Given the description of an element on the screen output the (x, y) to click on. 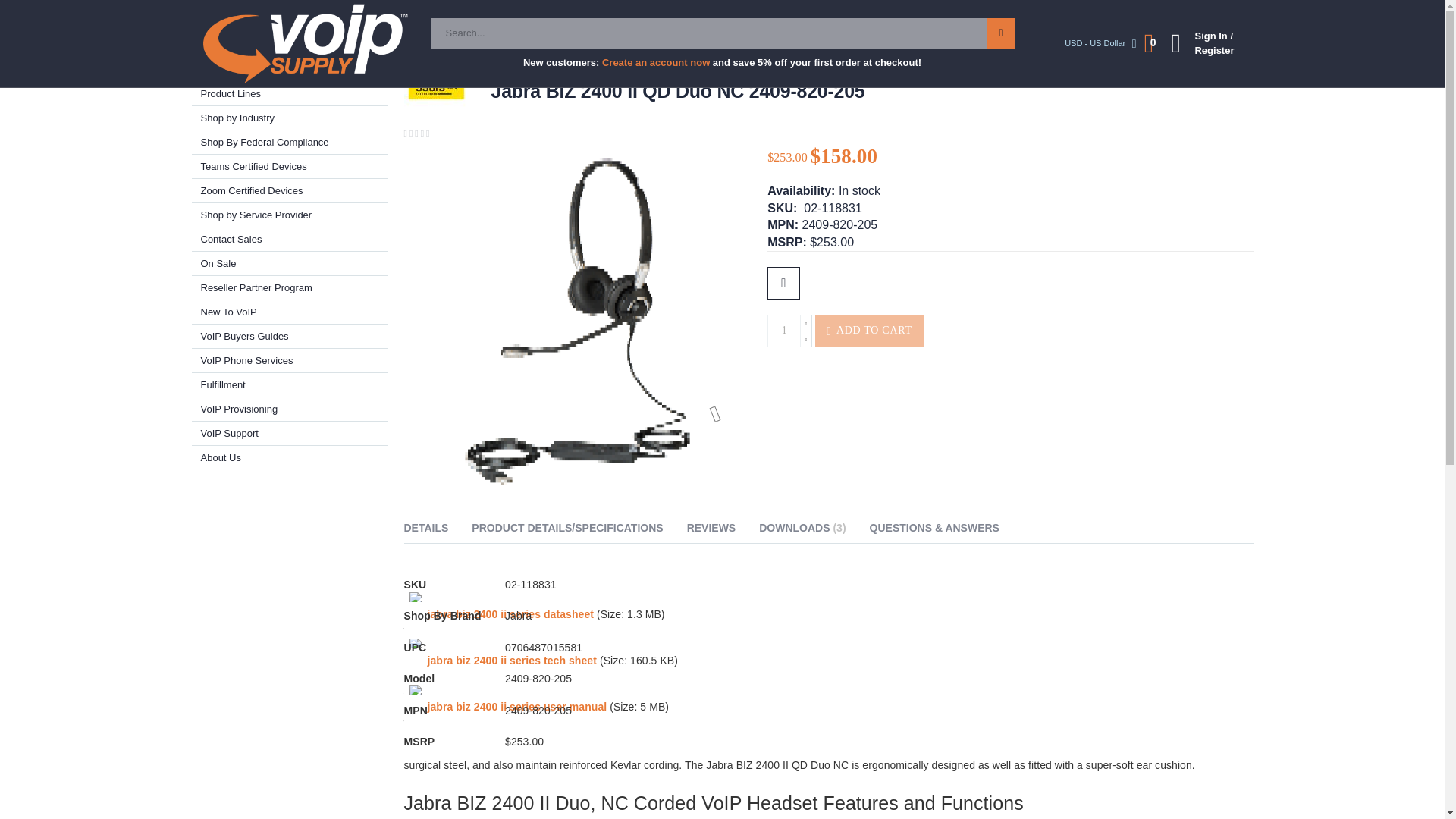
VoipSupply.com - Everything you need for VoIP! (305, 43)
Jabra (334, 42)
two-ear, noise canceling headset (851, 724)
Jabra Biz Corded Headsets (643, 42)
DETAILS (425, 529)
jabra biz 2400 ii series tech sheet (510, 660)
Compare Products (527, 13)
1-800-398-8647 (1070, 13)
ADD TO CART (869, 330)
Contact Us (443, 13)
